Given the description of an element on the screen output the (x, y) to click on. 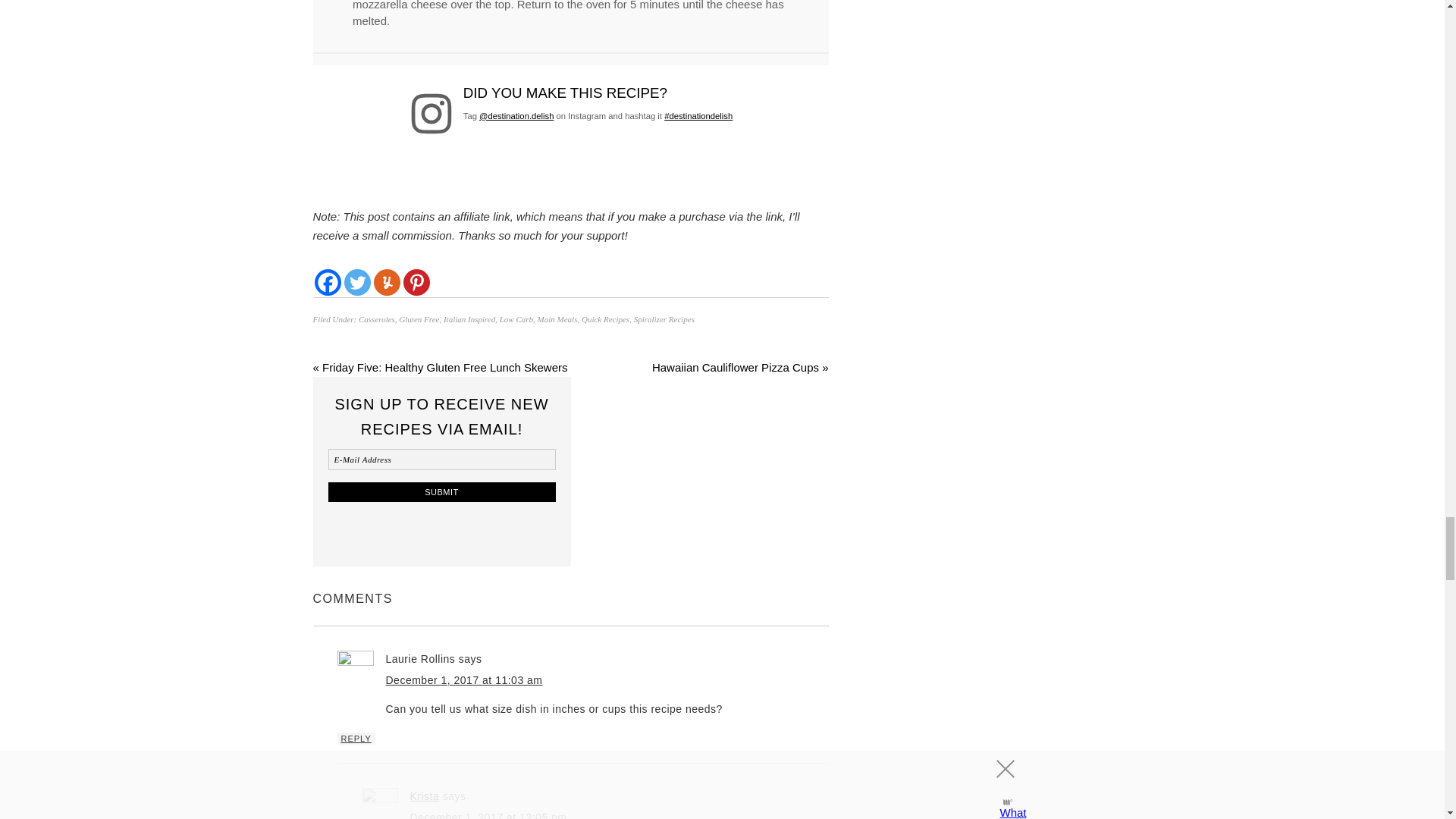
December 1, 2017 at 12:05 pm (487, 815)
Italian Inspired (469, 318)
Facebook (327, 282)
Krista (424, 796)
Submit (440, 492)
December 1, 2017 at 11:03 am (463, 680)
Low Carb (515, 318)
Pinterest (416, 282)
Gluten Free (418, 318)
Yummly (385, 282)
Casseroles (376, 318)
Spiralizer Recipes (663, 318)
REPLY (355, 738)
Submit (440, 492)
Main Meals (557, 318)
